Given the description of an element on the screen output the (x, y) to click on. 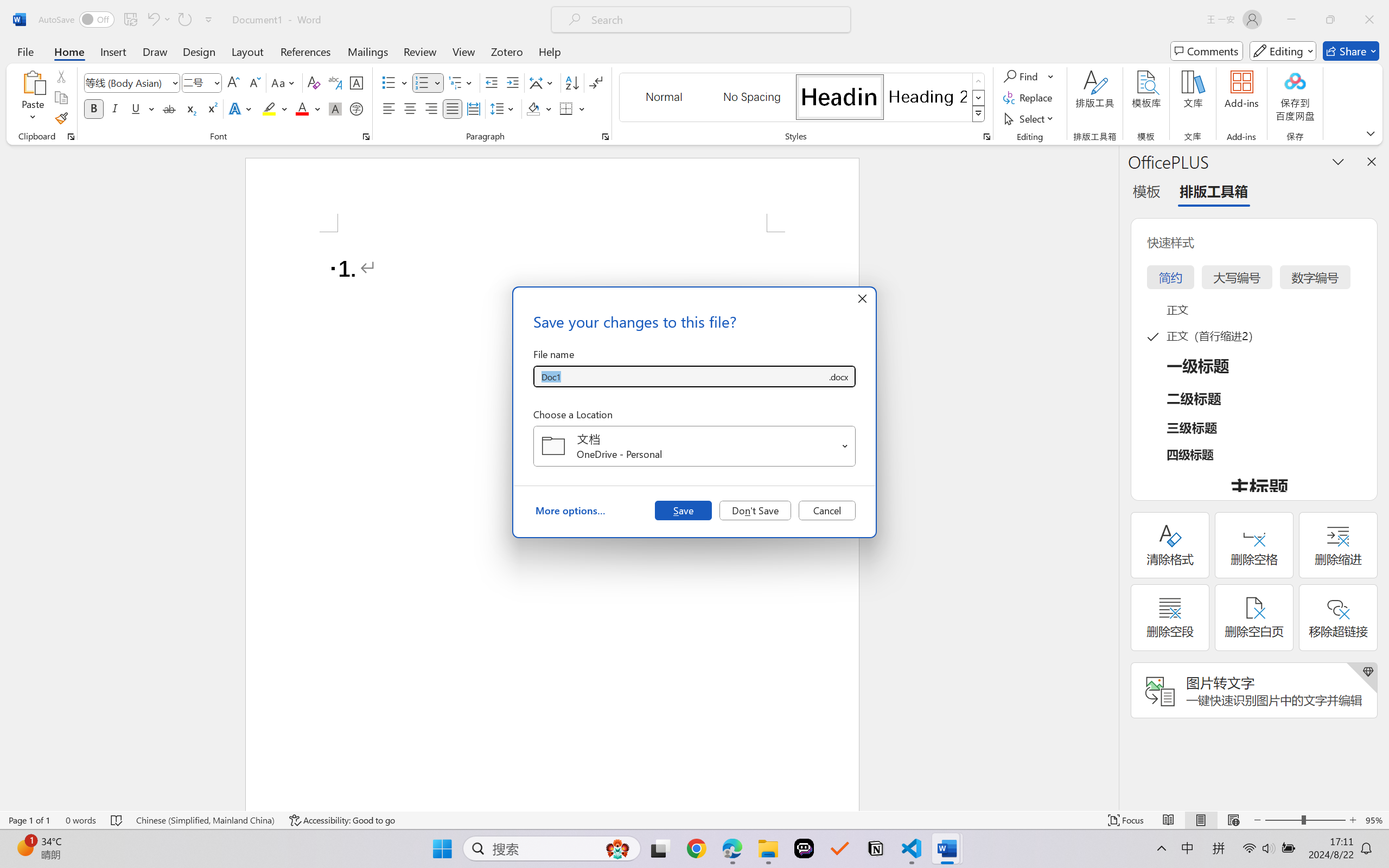
Google Chrome (696, 848)
Choose a Location (694, 446)
Undo Number Default (152, 19)
